Given the description of an element on the screen output the (x, y) to click on. 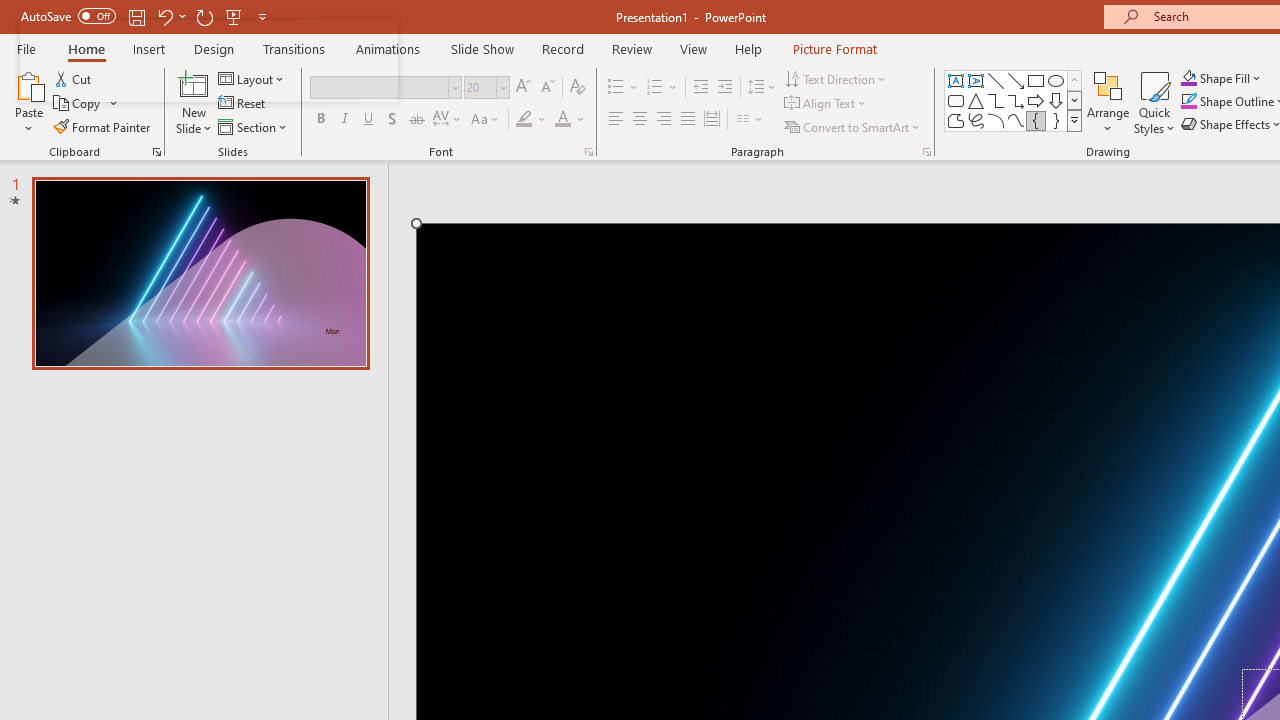
View (693, 48)
Align Right (663, 119)
Numbering (654, 87)
Shape Outline Blue, Accent 1 (1188, 101)
Connector: Elbow (995, 100)
Font Size (486, 87)
Oval (1055, 80)
Arrow: Down (1055, 100)
Text Highlight Color Yellow (524, 119)
